Given the description of an element on the screen output the (x, y) to click on. 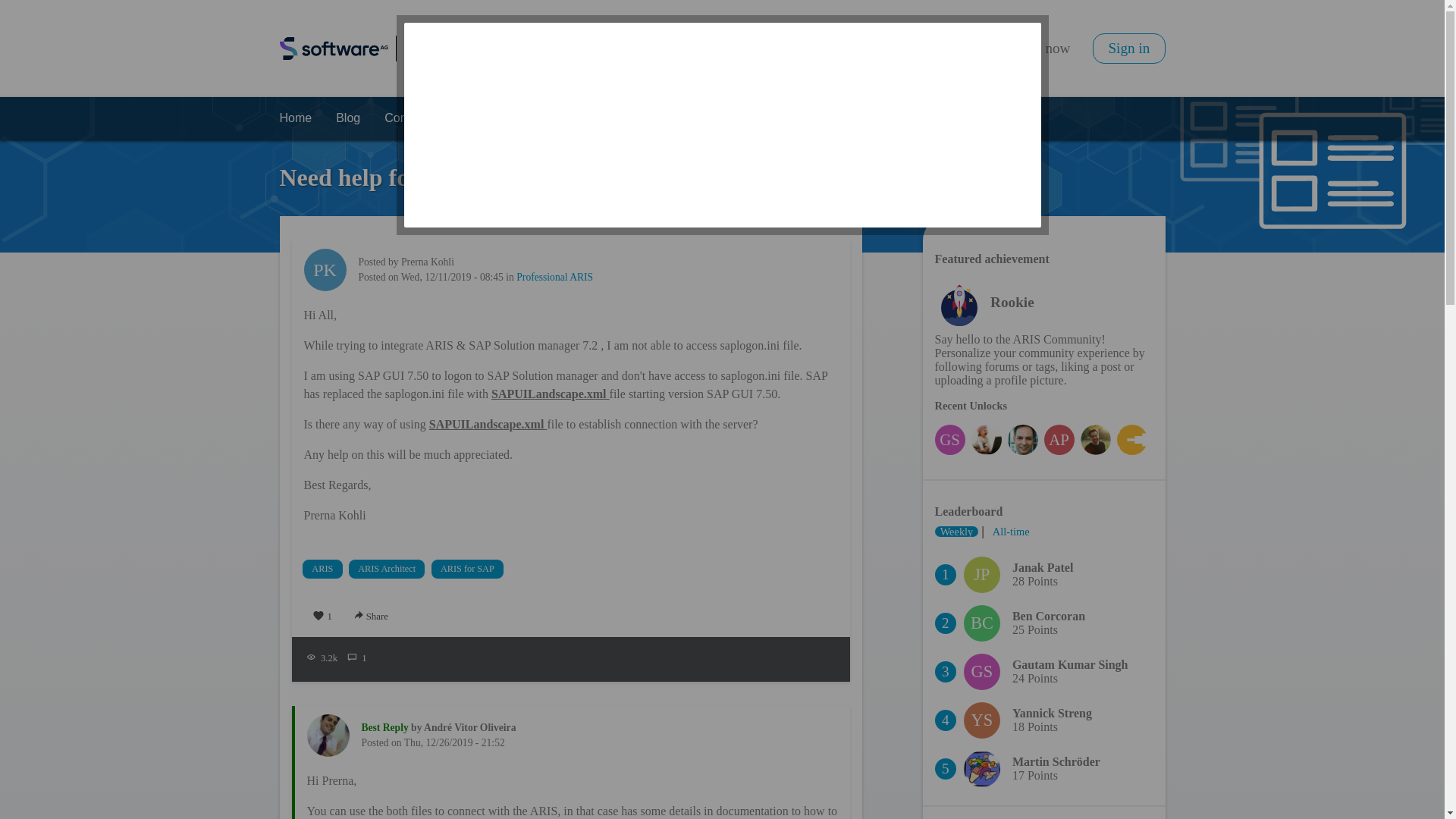
3 (983, 53)
Know-how (672, 118)
Partners (748, 118)
ARIS (323, 568)
Professional ARIS (554, 277)
Ben Corcoran (981, 623)
Blog (347, 118)
ARIS Architect (387, 568)
Anna Popa (1058, 440)
Home (294, 118)
Education (592, 118)
PacMan (1131, 440)
Yannick Streng (981, 719)
Join now (1042, 48)
